Given the description of an element on the screen output the (x, y) to click on. 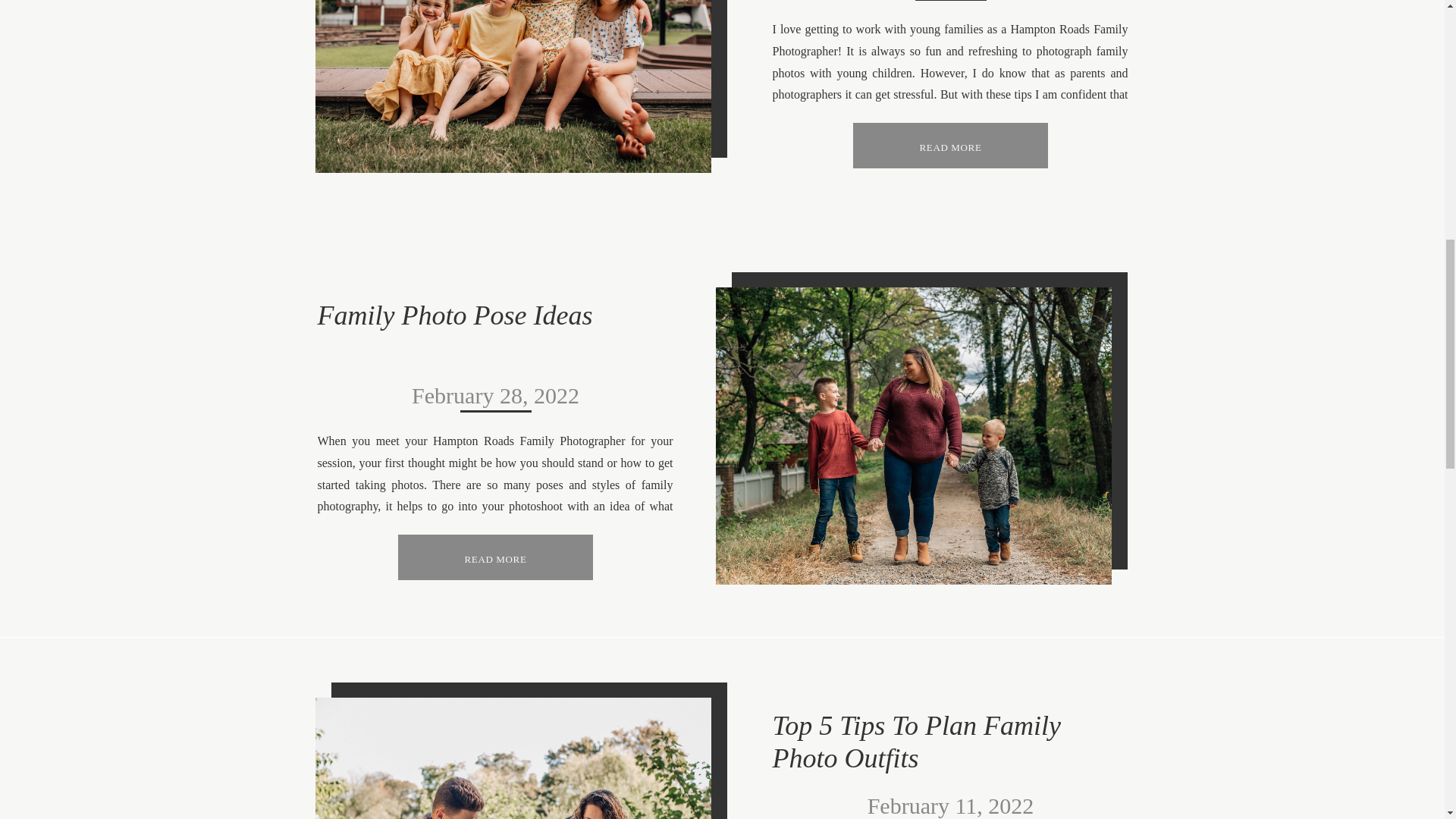
Family Photo Pose Ideas (494, 556)
Family Photo Pose Ideas (454, 315)
Top 5 Tips To Plan Family Photo Outfits (513, 758)
READ MORE (494, 557)
Top 5 Tips To Plan Family Photo Outfits (915, 741)
Family Photo Pose Ideas (914, 435)
Family Photos With Young Children Tips (949, 145)
Family Photos With Young Children Tips (948, 145)
READ MORE (949, 145)
Family Photos With Young Children Tips (513, 86)
Family Photo Pose Ideas (494, 557)
